Given the description of an element on the screen output the (x, y) to click on. 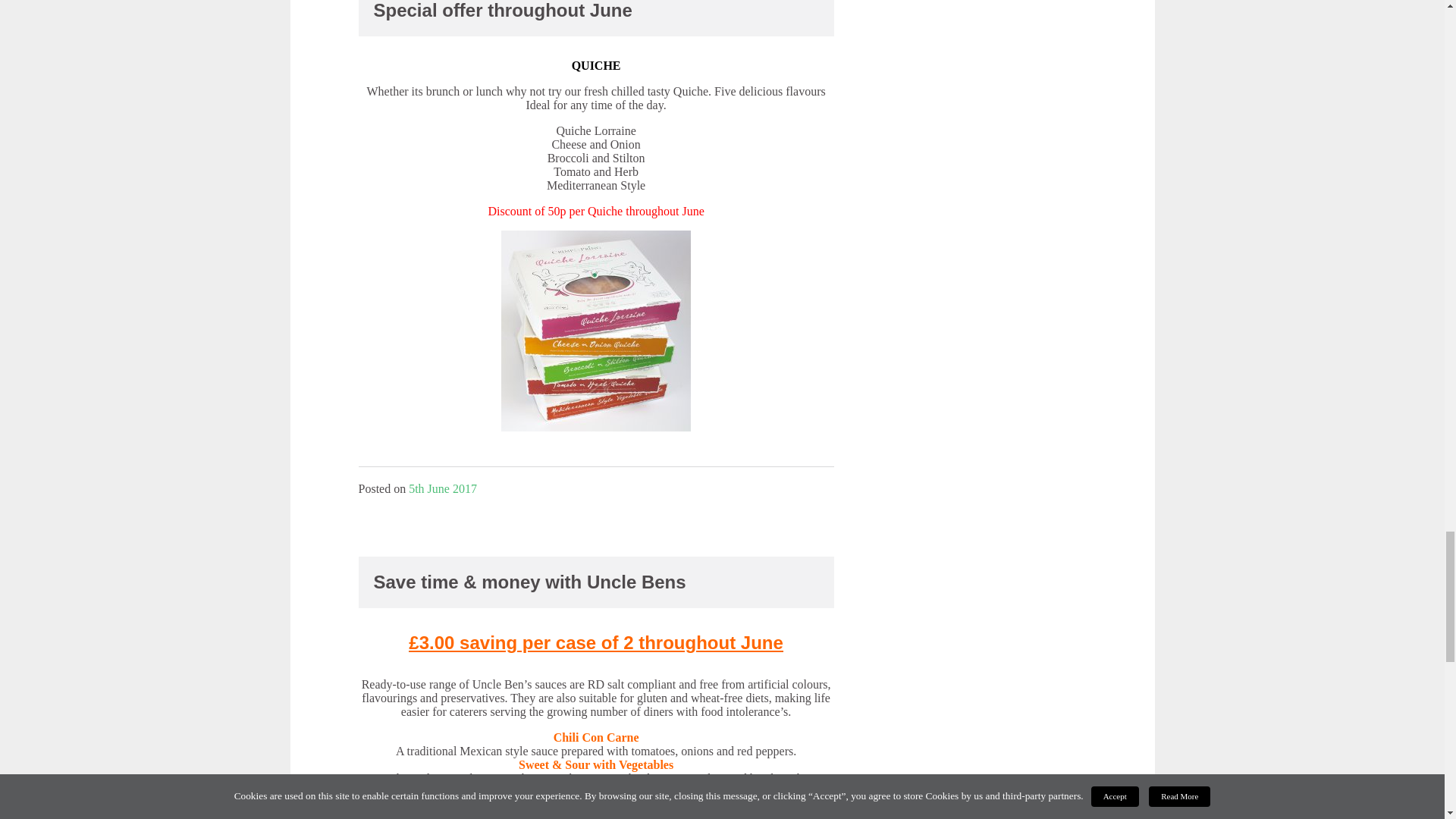
5th June 2017 (443, 488)
Special offer throughout June (501, 10)
